Given the description of an element on the screen output the (x, y) to click on. 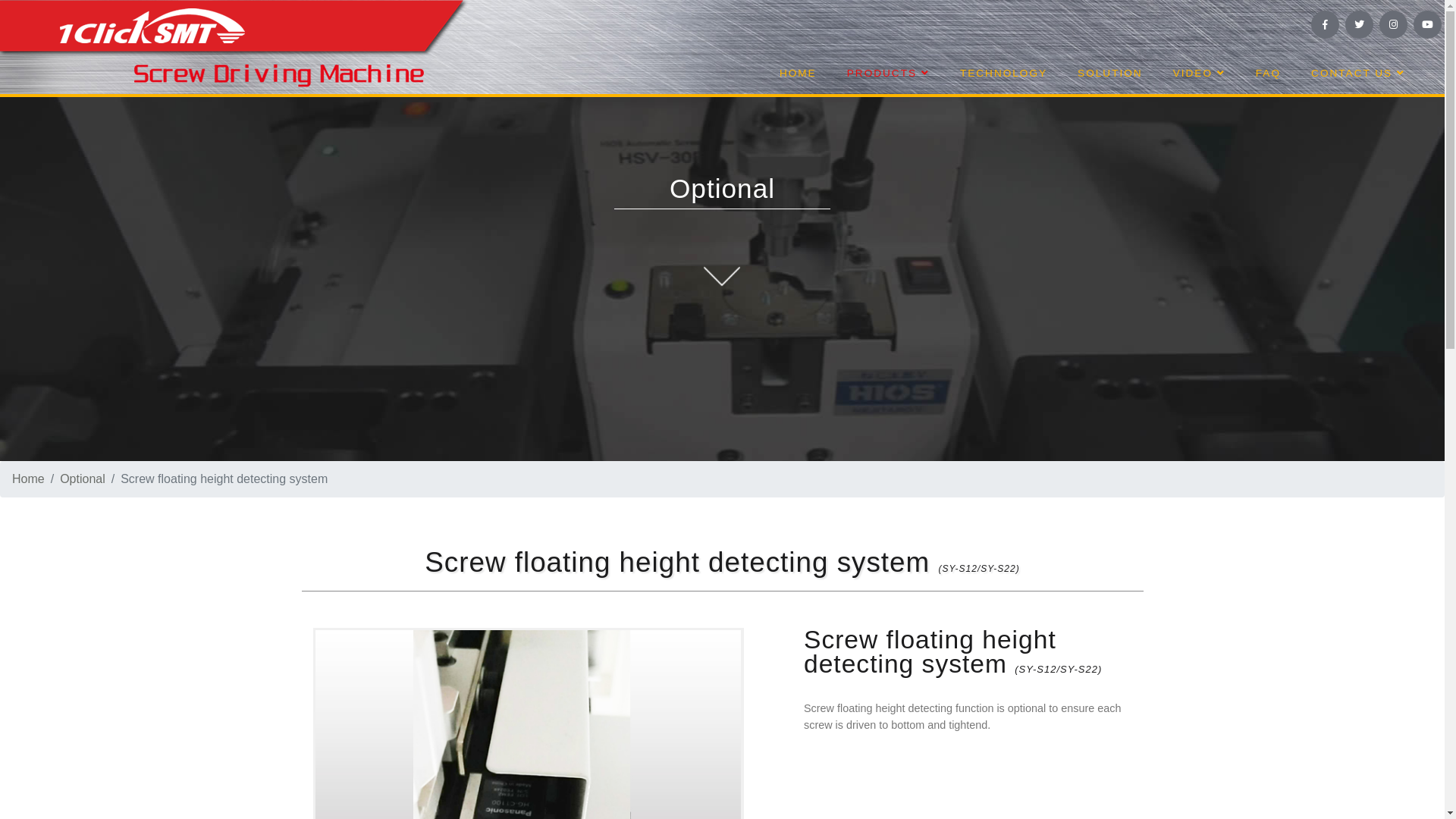
VIDEO Element type: text (1198, 73)
SOLUTION Element type: text (1110, 73)
HOME Element type: text (798, 73)
FAQ Element type: text (1268, 73)
CONTACT US Element type: text (1357, 73)
TECHNOLOGY Element type: text (1003, 73)
Home Element type: text (28, 478)
Optional Element type: text (82, 478)
PRODUCTS Element type: text (888, 73)
